Given the description of an element on the screen output the (x, y) to click on. 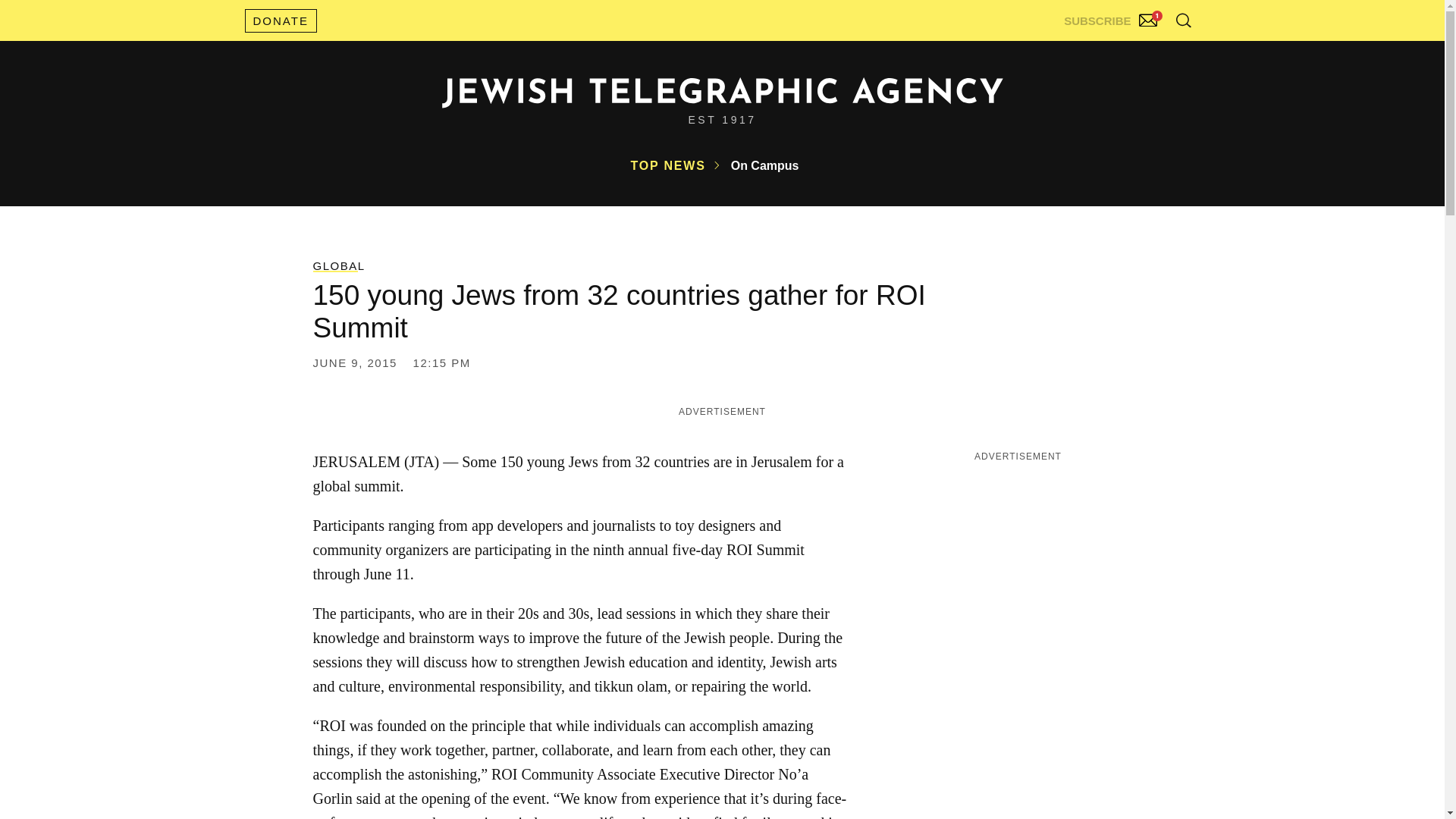
SEARCH TOGGLESEARCH TOGGLE (1182, 20)
Search (1144, 53)
DONATE (279, 20)
SUBSCRIBE (1112, 17)
